Given the description of an element on the screen output the (x, y) to click on. 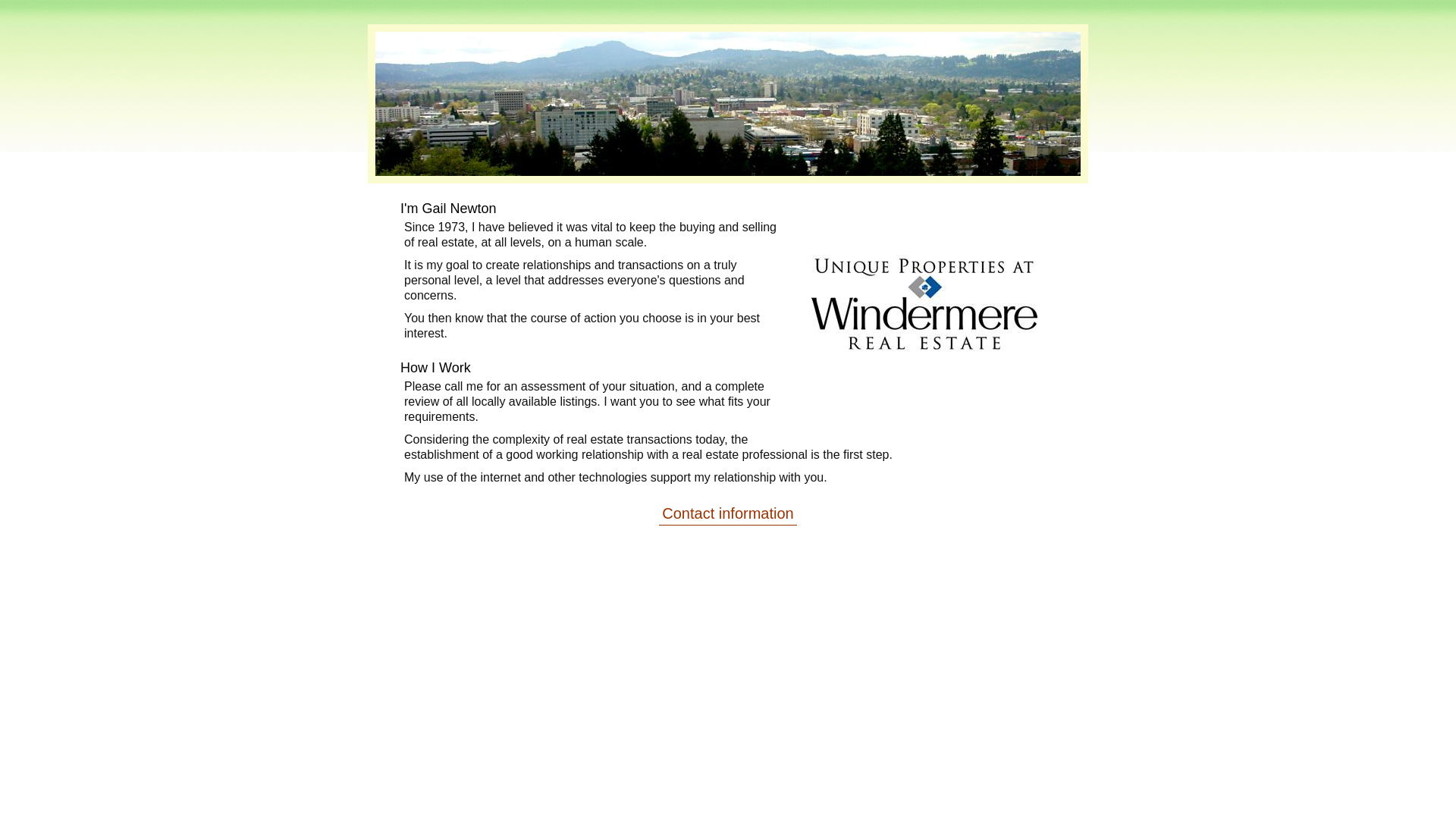
Contact information Element type: text (727, 513)
